Given the description of an element on the screen output the (x, y) to click on. 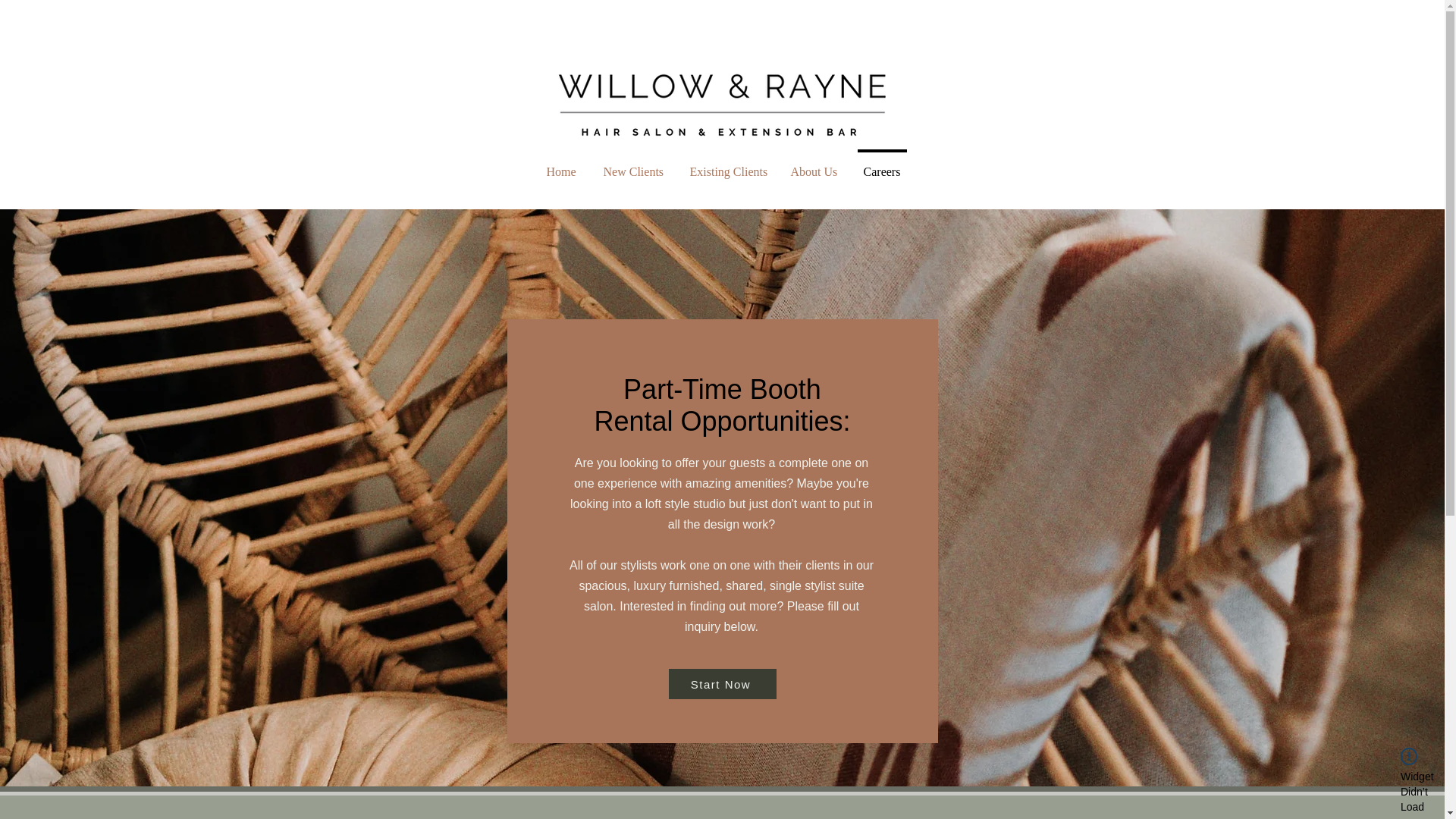
Home (560, 164)
Existing Clients (727, 164)
Start Now (722, 684)
Careers (881, 164)
New Clients (633, 164)
About Us (812, 164)
